Given the description of an element on the screen output the (x, y) to click on. 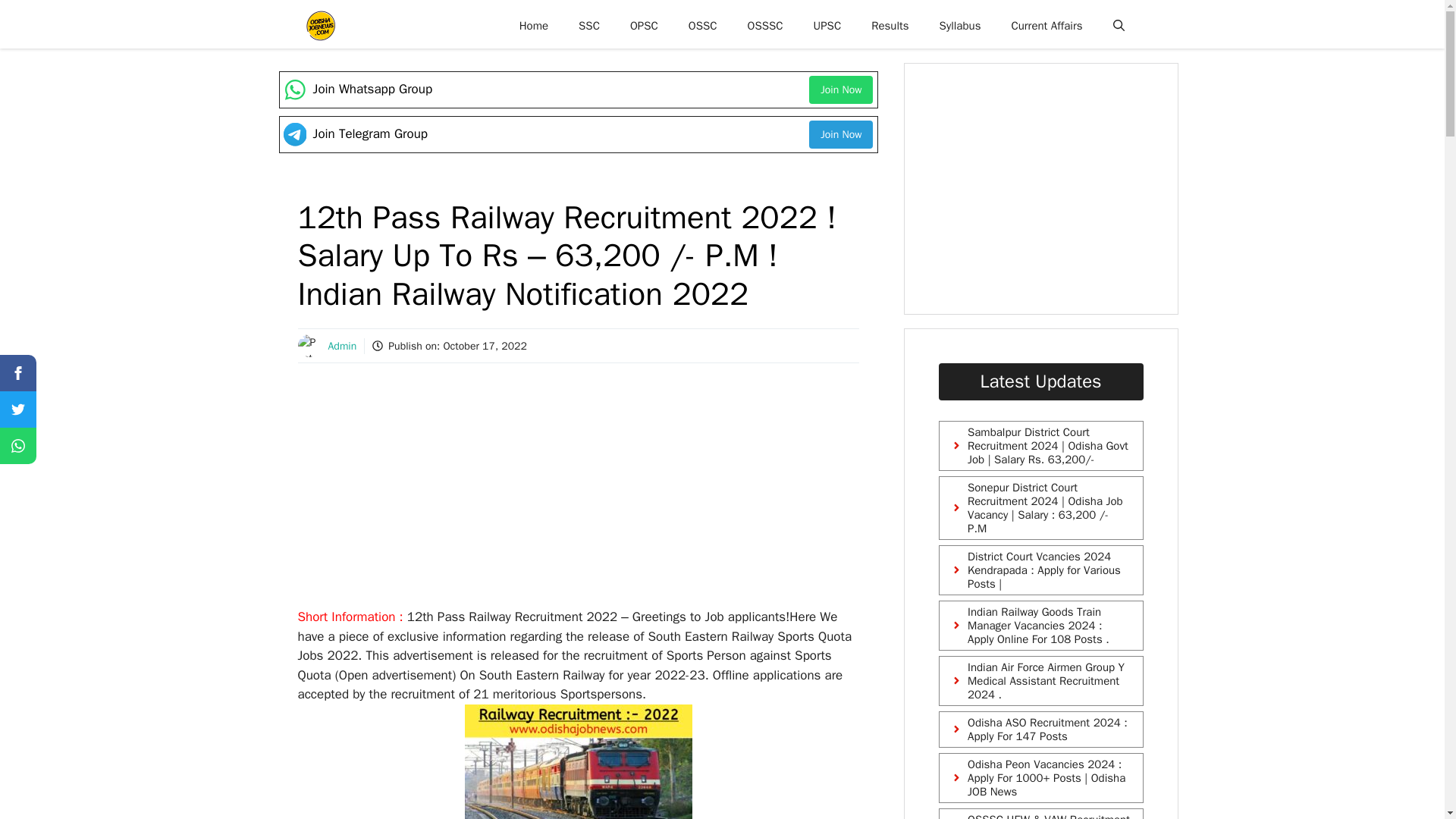
OPSC (643, 25)
Advertisement (1059, 188)
UPSC (827, 25)
Join Now (840, 134)
Admin (341, 345)
Home (533, 25)
Join Now (840, 90)
Syllabus (959, 25)
Advertisement (577, 495)
OSSC (702, 25)
